Given the description of an element on the screen output the (x, y) to click on. 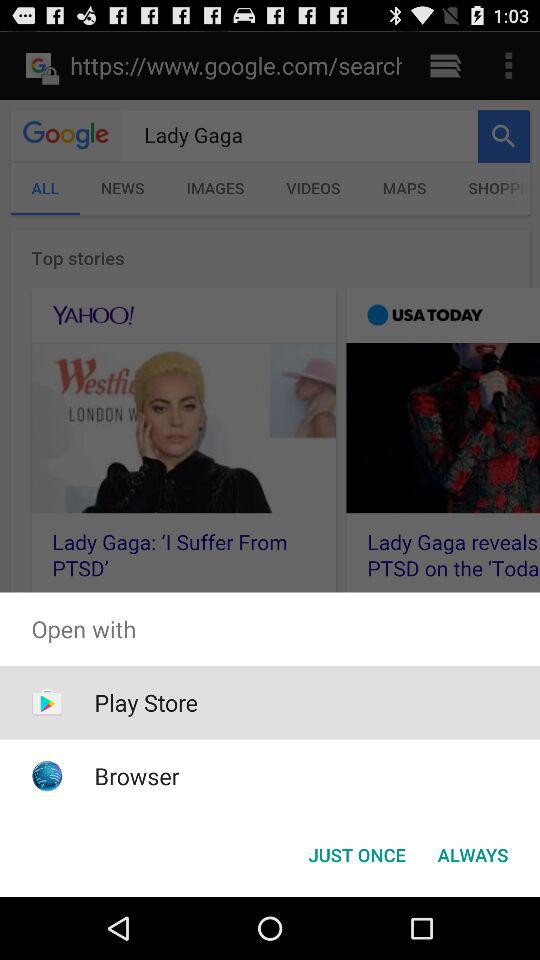
flip to the play store app (146, 702)
